Given the description of an element on the screen output the (x, y) to click on. 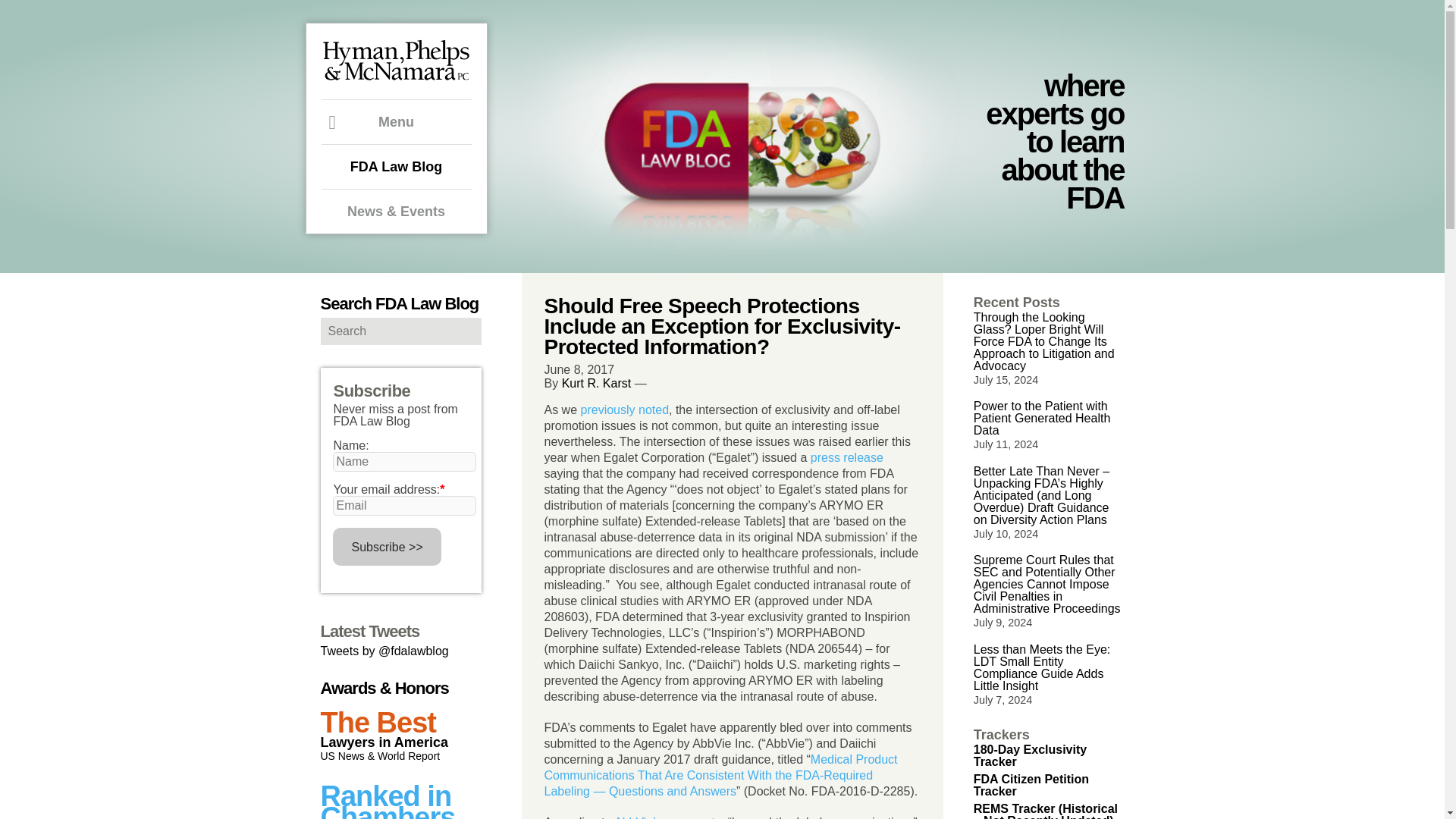
FDA Law Blog (396, 166)
Power to the Patient with Patient Generated Health Data (1042, 417)
180-Day Exclusivity Tracker (1030, 755)
FDA Citizen Petition Tracker (1031, 785)
Kurt R. Karst (596, 382)
